Given the description of an element on the screen output the (x, y) to click on. 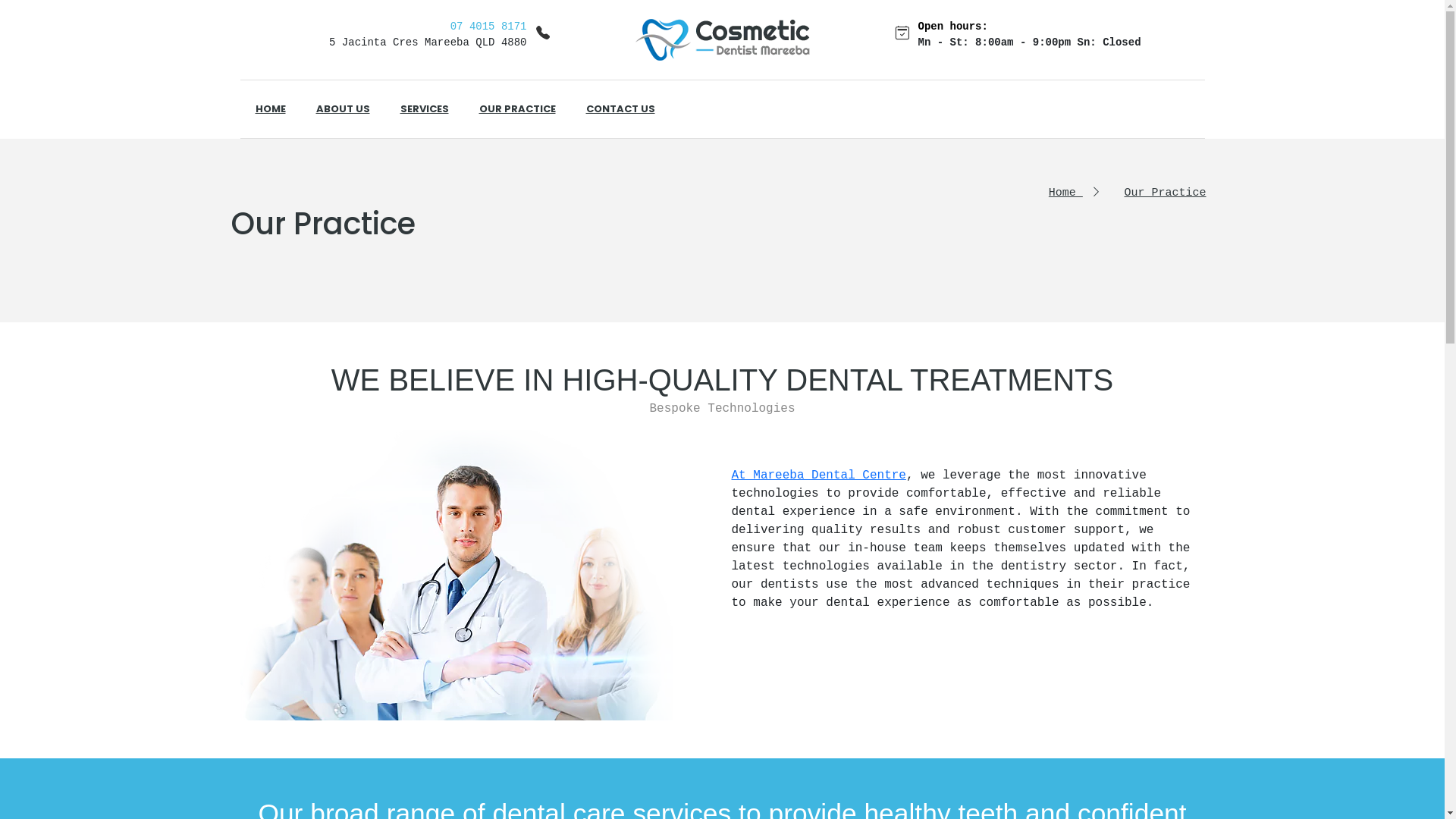
OUR PRACTICE Element type: text (517, 109)
ABOUT US Element type: text (342, 109)
At Mareeba Dental Centre Element type: text (818, 475)
Our Practice Element type: text (1164, 192)
Home Element type: text (1075, 192)
HOME Element type: text (269, 109)
CONTACT US Element type: text (619, 109)
SERVICES Element type: text (424, 109)
